Given the description of an element on the screen output the (x, y) to click on. 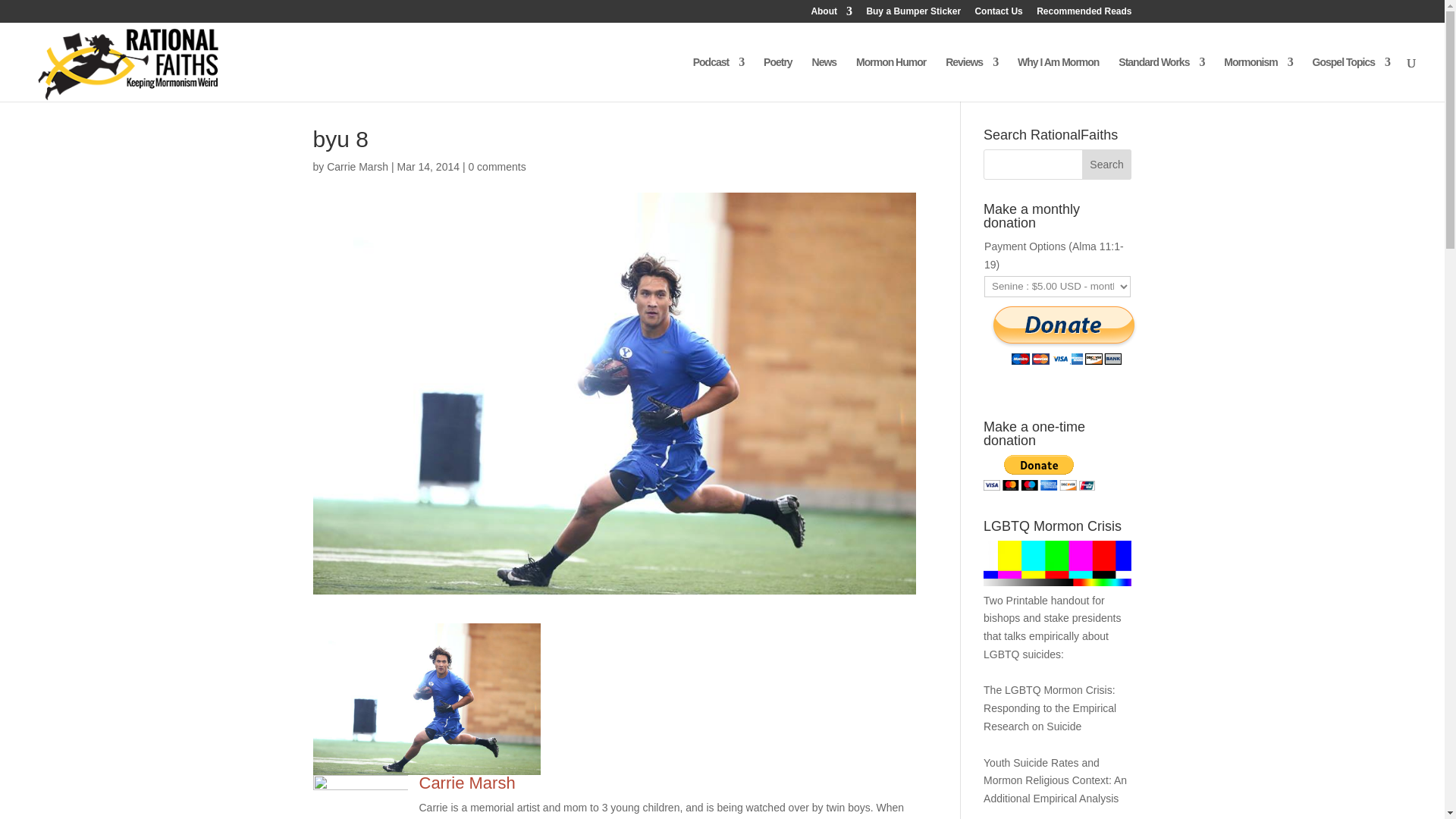
Posts by Carrie Marsh (357, 166)
Search (1106, 164)
Mormonism (1258, 78)
Podcast (718, 78)
Recommended Reads (1083, 14)
Reviews (970, 78)
Mormon Humor (891, 78)
About (830, 14)
Standard Works (1161, 78)
Why I Am Mormon (1058, 78)
Contact Us (998, 14)
Posts by Carrie Marsh (467, 782)
Buy a Bumper Sticker (913, 14)
